Given the description of an element on the screen output the (x, y) to click on. 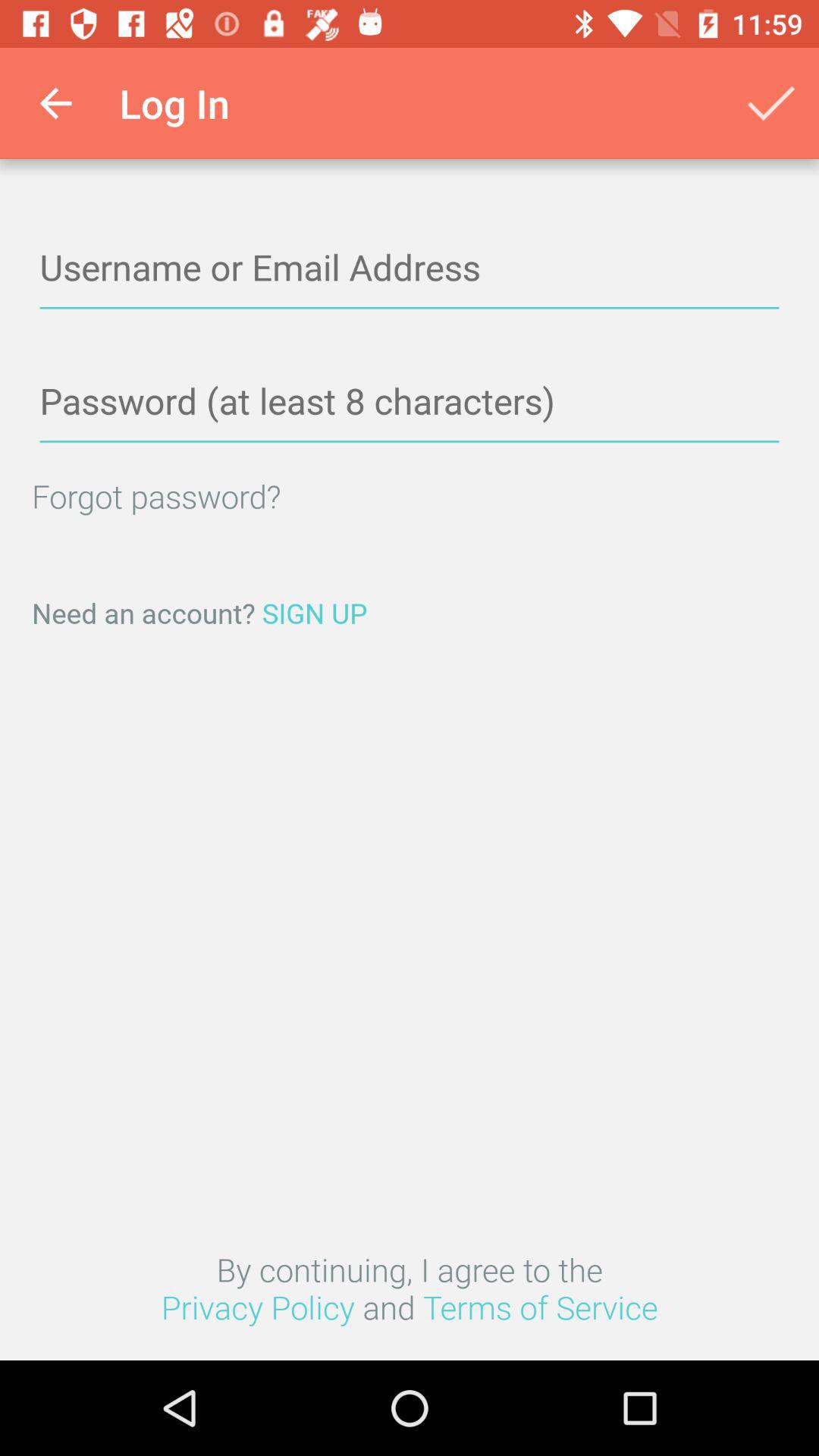
username or email address text input field (409, 268)
